Given the description of an element on the screen output the (x, y) to click on. 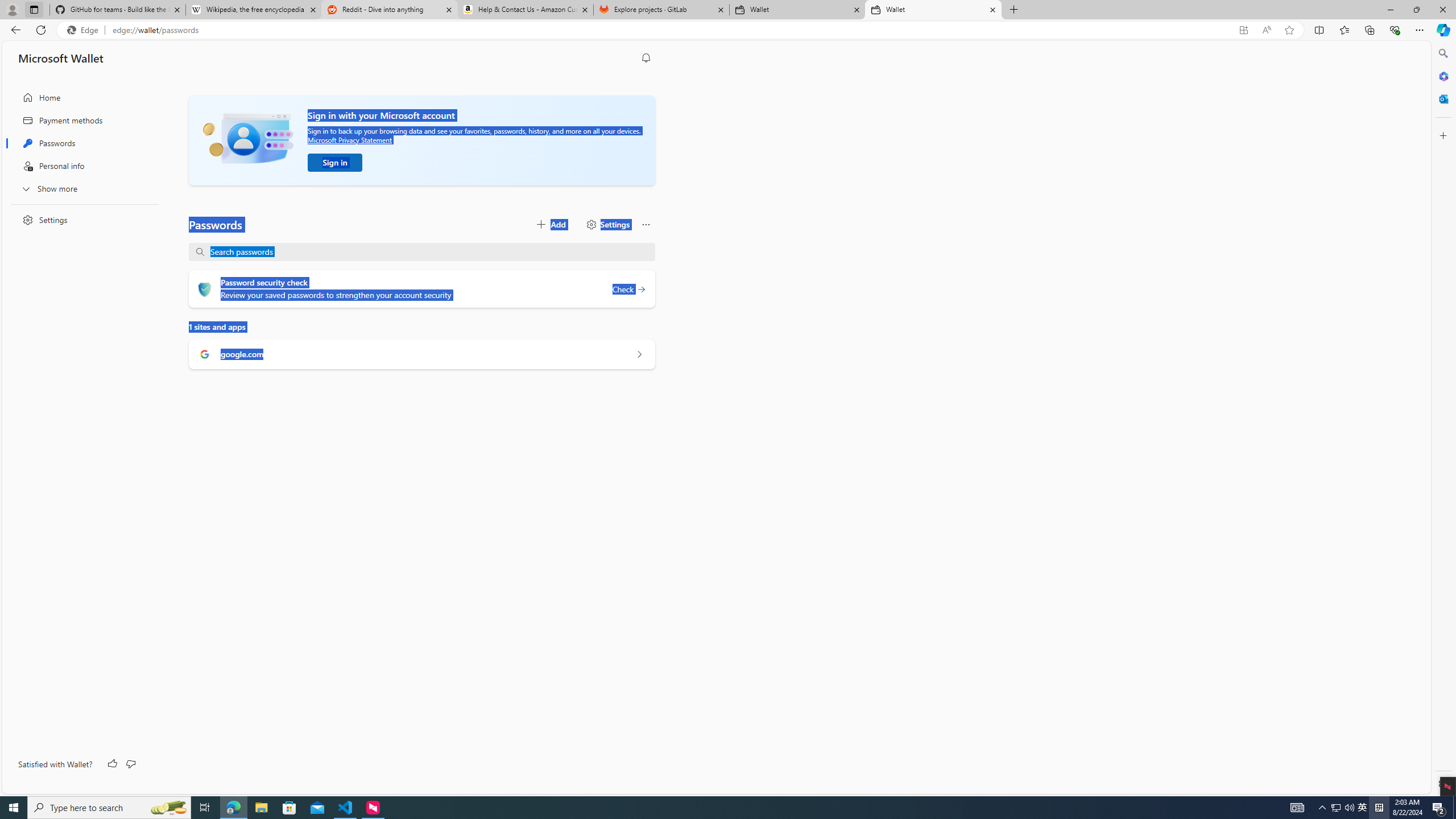
Like (112, 764)
